Given the description of an element on the screen output the (x, y) to click on. 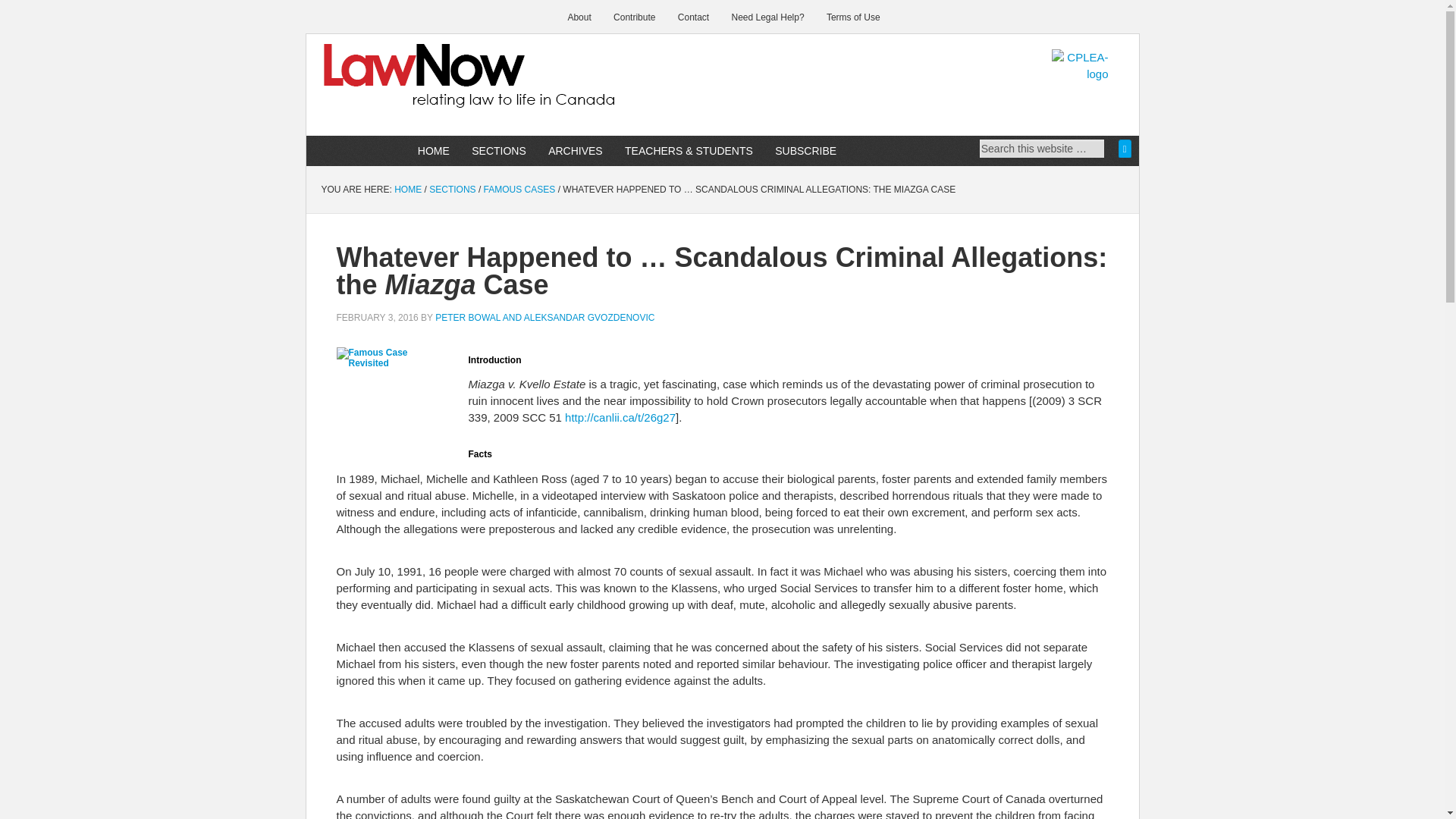
ARCHIVES (575, 150)
FAMOUS CASES (519, 189)
SECTIONS (452, 189)
Contact (693, 16)
SECTIONS (498, 150)
HOME (408, 189)
HOME (433, 150)
PETER BOWAL AND ALEKSANDAR GVOZDENOVIC (544, 317)
About (579, 16)
Need Legal Help? (767, 16)
Posts by Peter Bowal and Aleksandar Gvozdenovic (544, 317)
Contribute (634, 16)
LAWNOW MAGAZINE (435, 86)
